Given the description of an element on the screen output the (x, y) to click on. 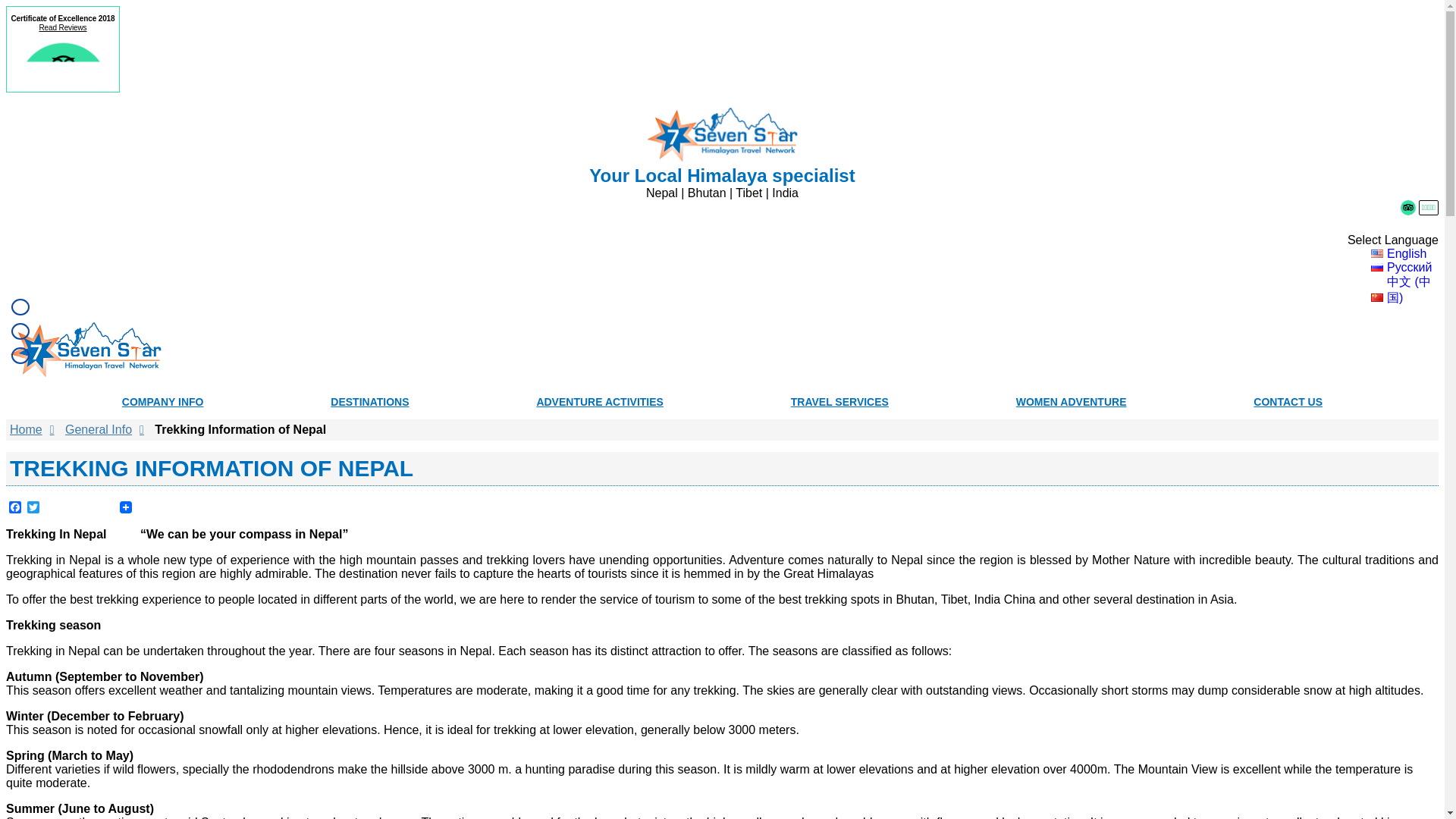
DESTINATIONS (369, 401)
Read reviews on Tripadvisor  (1407, 207)
Facebook (14, 508)
ADVENTURE ACTIVITIES (599, 401)
Twitter (33, 508)
COMPANY INFO (162, 401)
